Given the description of an element on the screen output the (x, y) to click on. 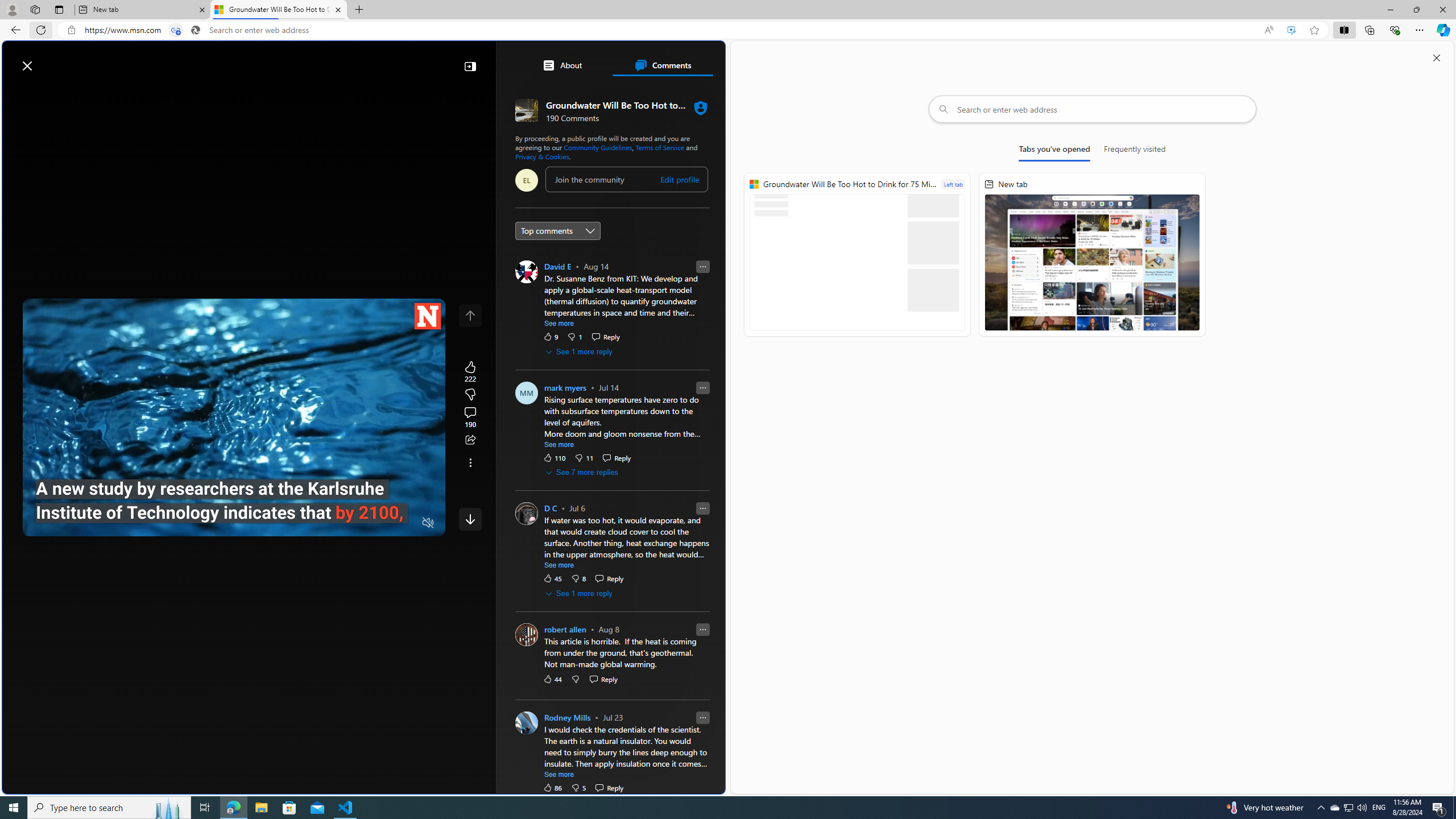
Open navigation menu (16, 92)
AutomationID: e5rZOEMGacU1 (469, 518)
Seek Forward (85, 523)
45 Like (552, 578)
Custom Personal Discounts (616, 515)
Reply Reply Comment (608, 787)
Sort comments by (557, 230)
Personalize (679, 92)
86 Like (552, 787)
